Given the description of an element on the screen output the (x, y) to click on. 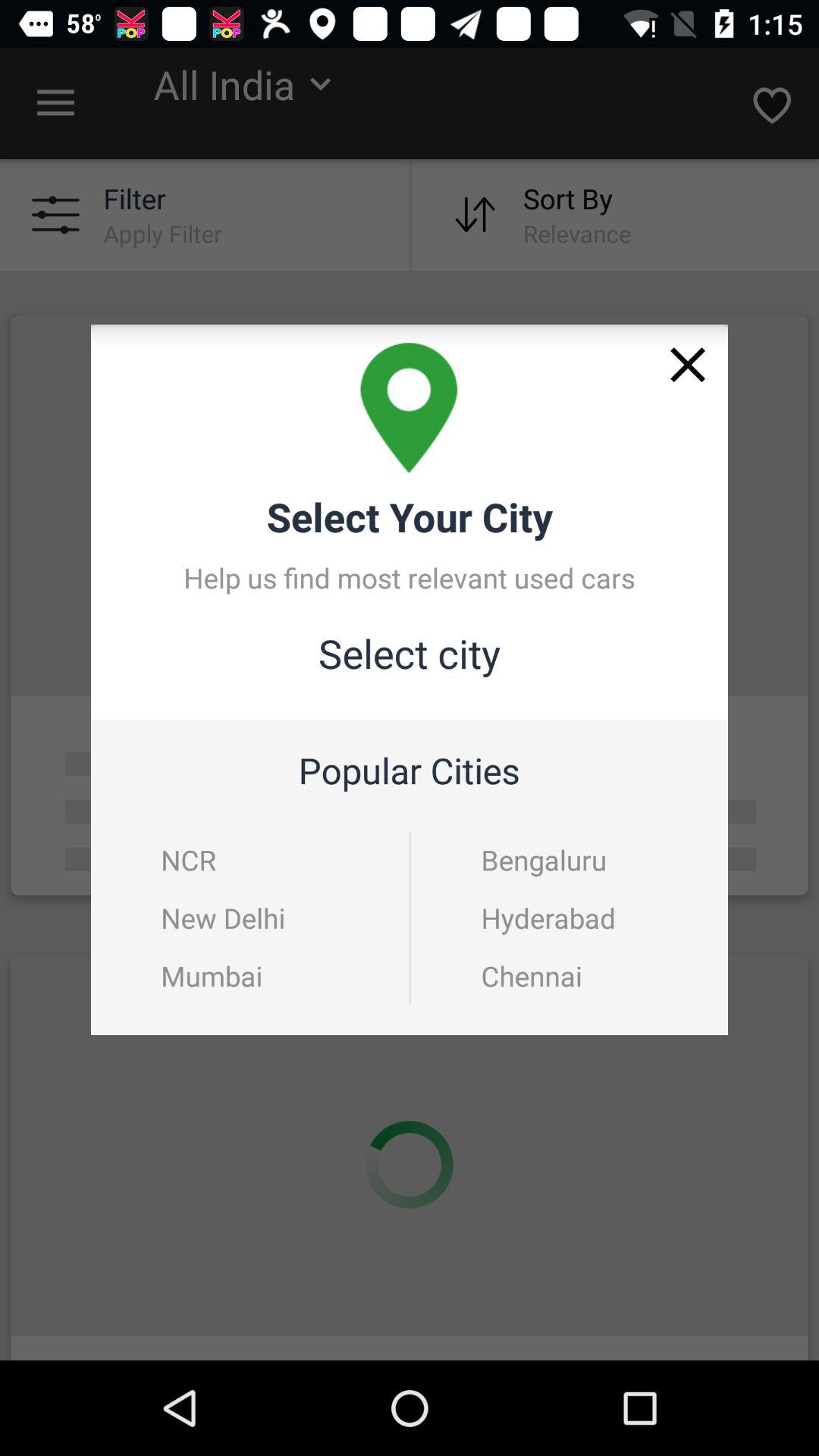
scroll until mumbai (211, 975)
